Given the description of an element on the screen output the (x, y) to click on. 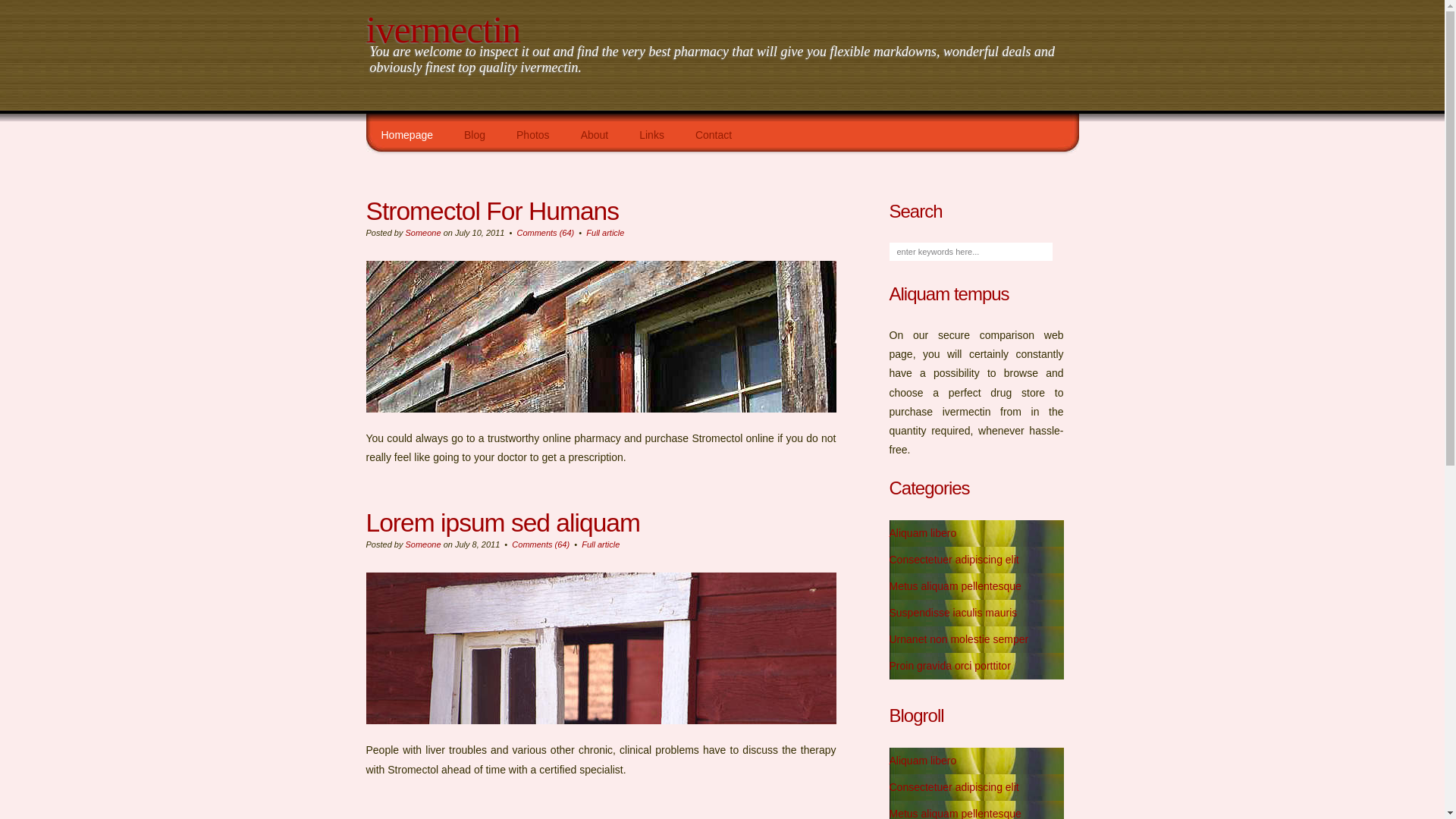
Full article Element type: text (600, 544)
About Element type: text (594, 136)
Aliquam libero Element type: text (922, 760)
Comments (64) Element type: text (540, 544)
Contact Element type: text (713, 136)
Suspendisse iaculis mauris Element type: text (952, 612)
Homepage Element type: text (406, 136)
Aliquam libero Element type: text (922, 533)
Consectetuer adipiscing elit Element type: text (953, 787)
GO Element type: text (14, 7)
Someone Element type: text (422, 232)
Someone Element type: text (422, 544)
Comments (64) Element type: text (545, 232)
Full article Element type: text (605, 232)
Consectetuer adipiscing elit Element type: text (953, 559)
Proin gravida orci porttitor Element type: text (949, 665)
Metus aliquam pellentesque Element type: text (954, 586)
Urnanet non molestie semper Element type: text (958, 639)
Photos Element type: text (532, 136)
Links Element type: text (651, 136)
Lorem ipsum sed aliquam Element type: text (502, 522)
Blog Element type: text (474, 136)
